Given the description of an element on the screen output the (x, y) to click on. 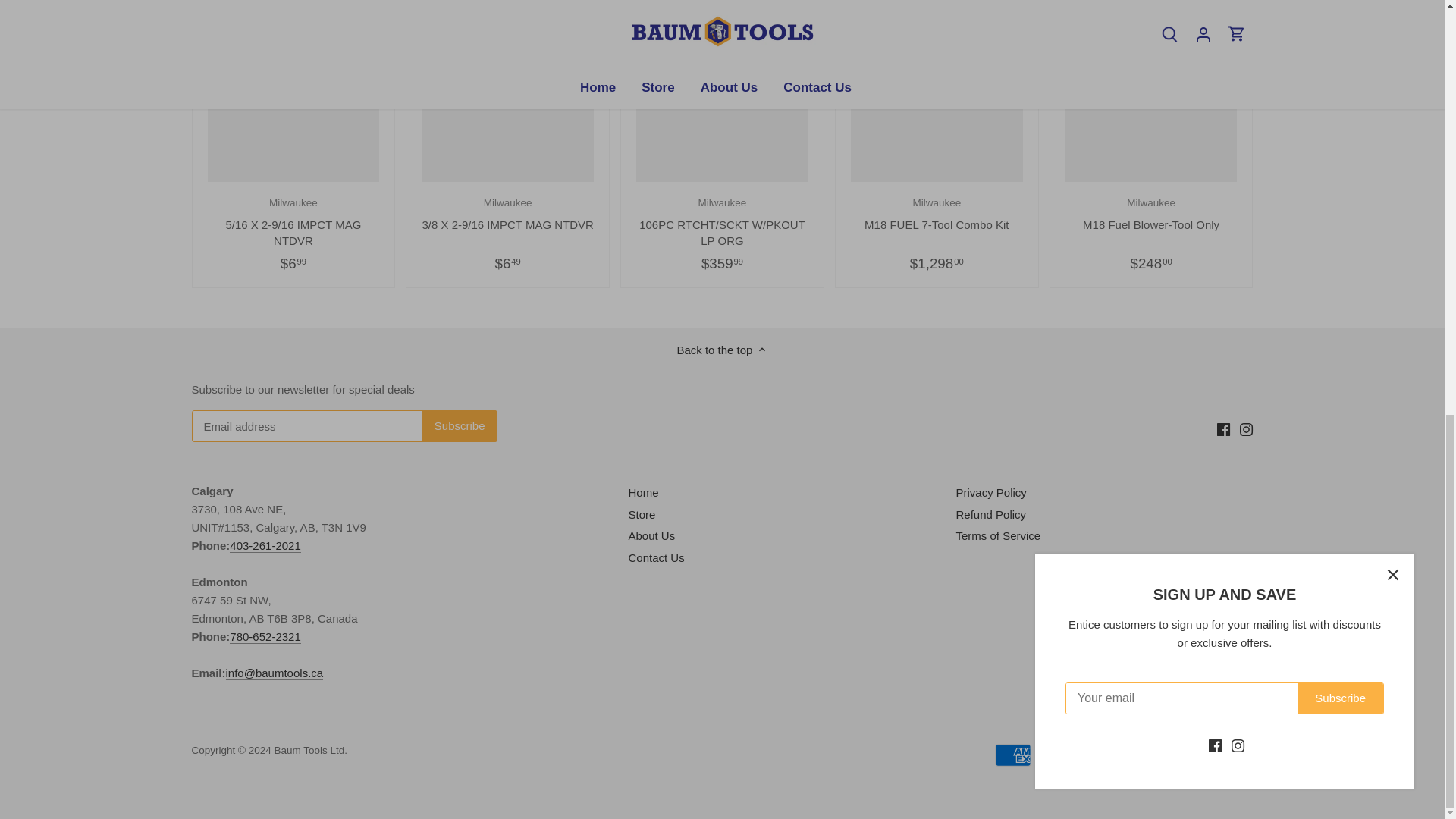
Instagram (1246, 429)
Mastercard (1144, 754)
Facebook (1223, 429)
Visa (1233, 754)
Apple Pay (1057, 754)
Subscribe (459, 426)
Google Pay (1101, 754)
Shop Pay (936, 212)
American Express (1151, 212)
